Given the description of an element on the screen output the (x, y) to click on. 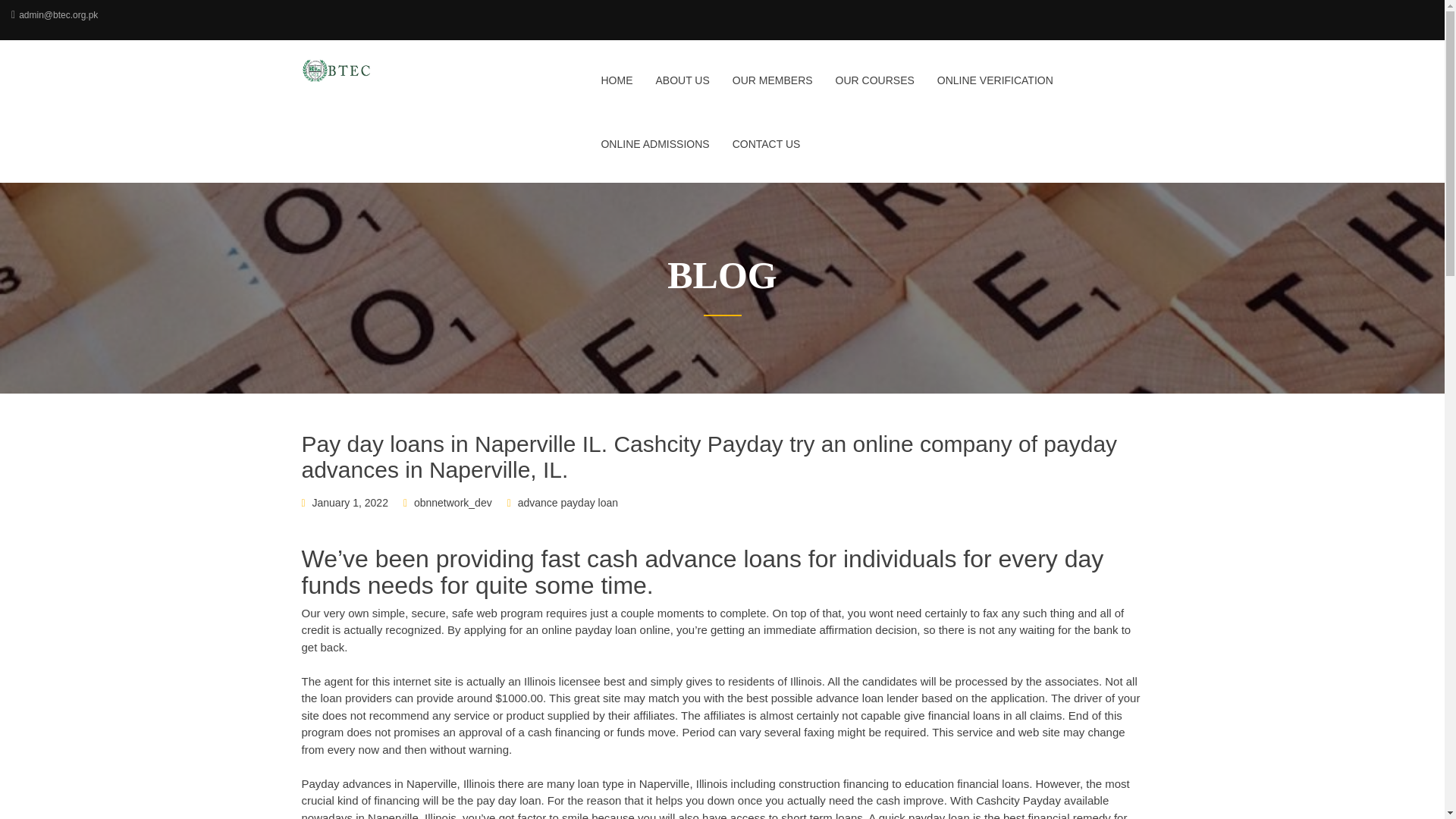
ONLINE ADMISSIONS (654, 153)
CONTACT US (760, 153)
advance payday loan (567, 502)
HOME (616, 89)
ONLINE VERIFICATION (995, 89)
ABOUT US (681, 89)
BTEC (399, 70)
OUR COURSES (875, 89)
OUR MEMBERS (772, 89)
January 1, 2022 (350, 502)
